Given the description of an element on the screen output the (x, y) to click on. 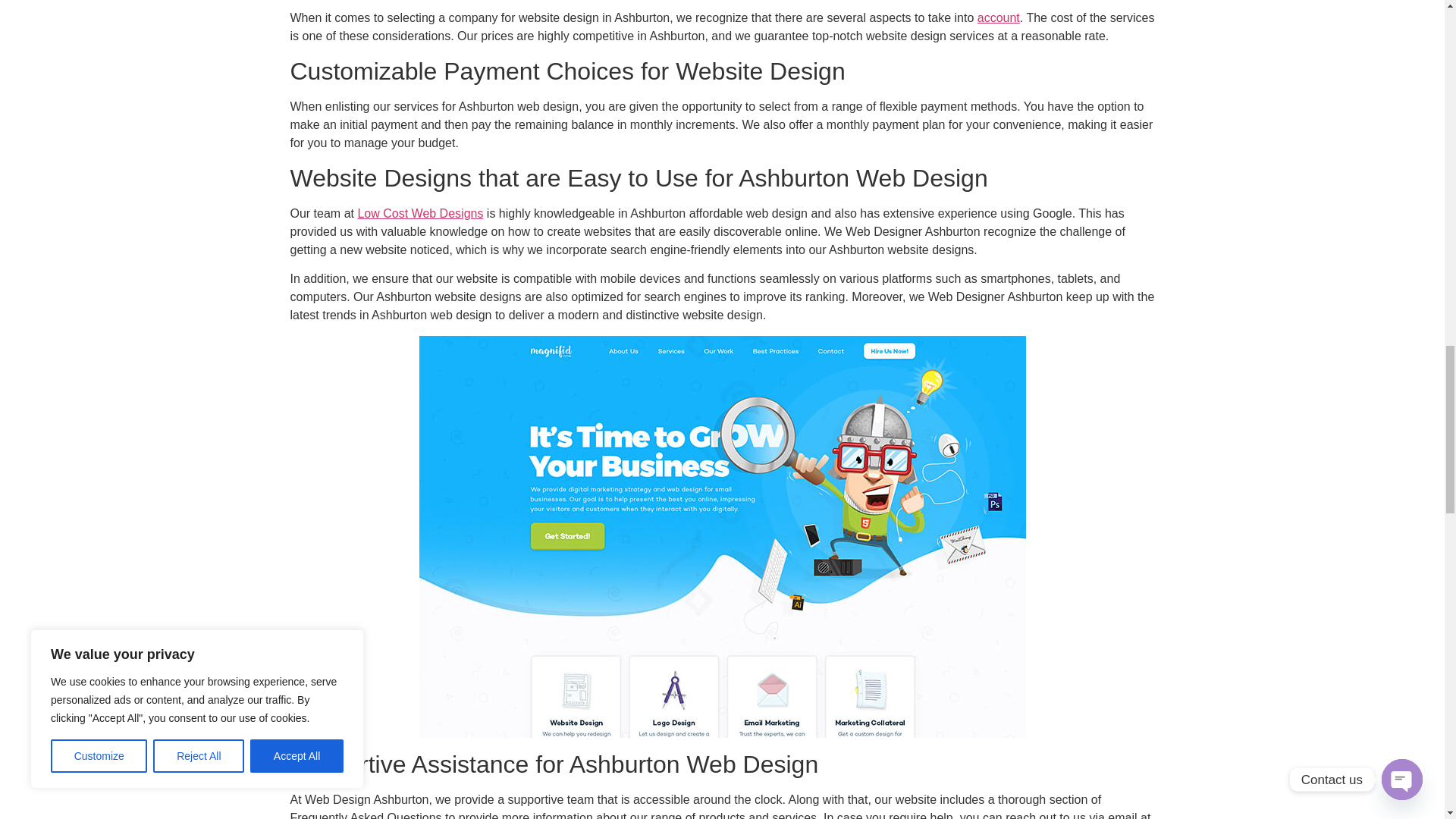
My account (998, 17)
